Given the description of an element on the screen output the (x, y) to click on. 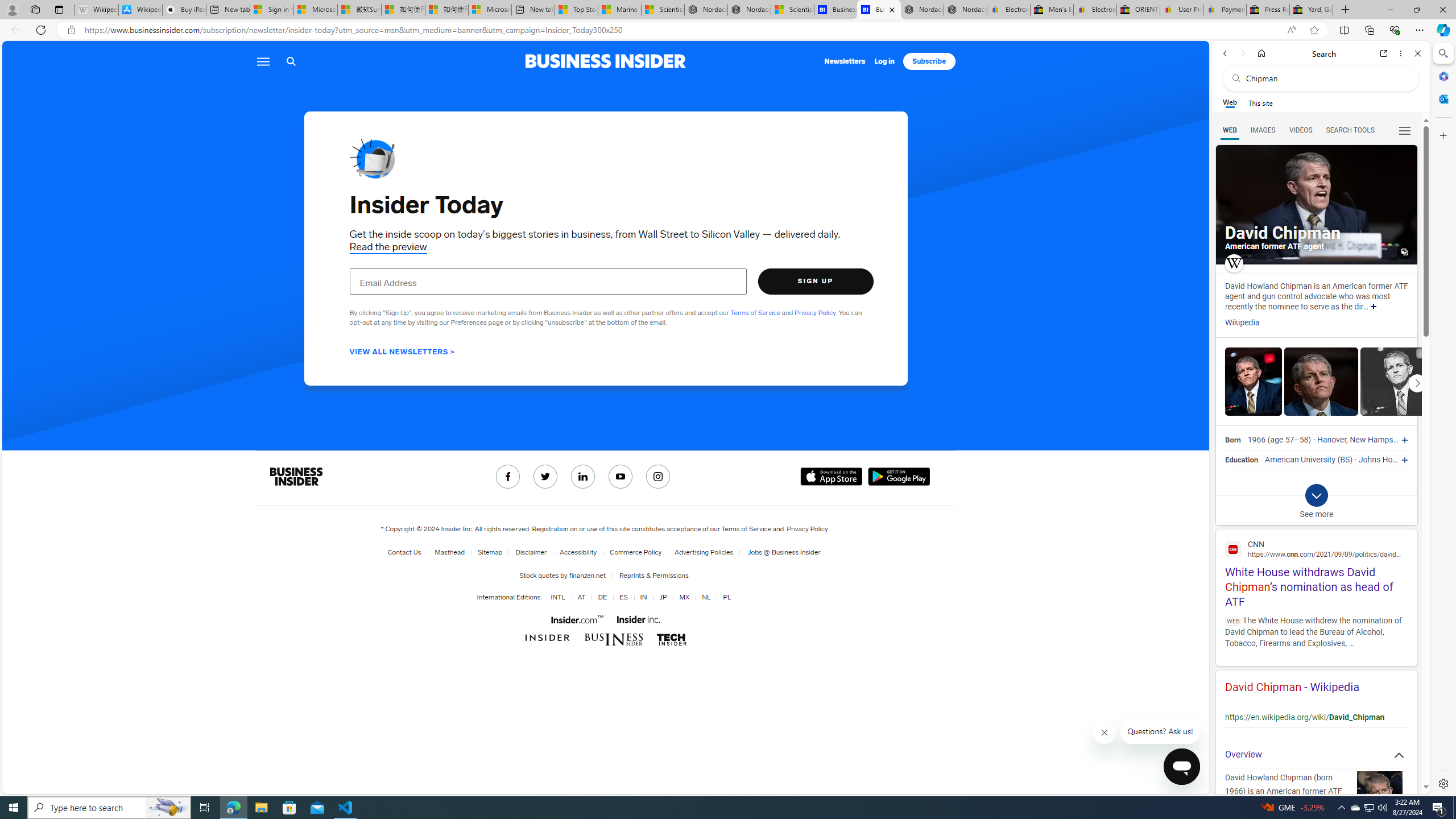
Read the preview (387, 246)
Hanover (1331, 439)
IN (643, 597)
Business Insider (295, 476)
Email address (547, 280)
Download on the App Store (830, 476)
Terms of Service (745, 528)
Insider (547, 637)
Click to visit Business Insider (547, 637)
